Given the description of an element on the screen output the (x, y) to click on. 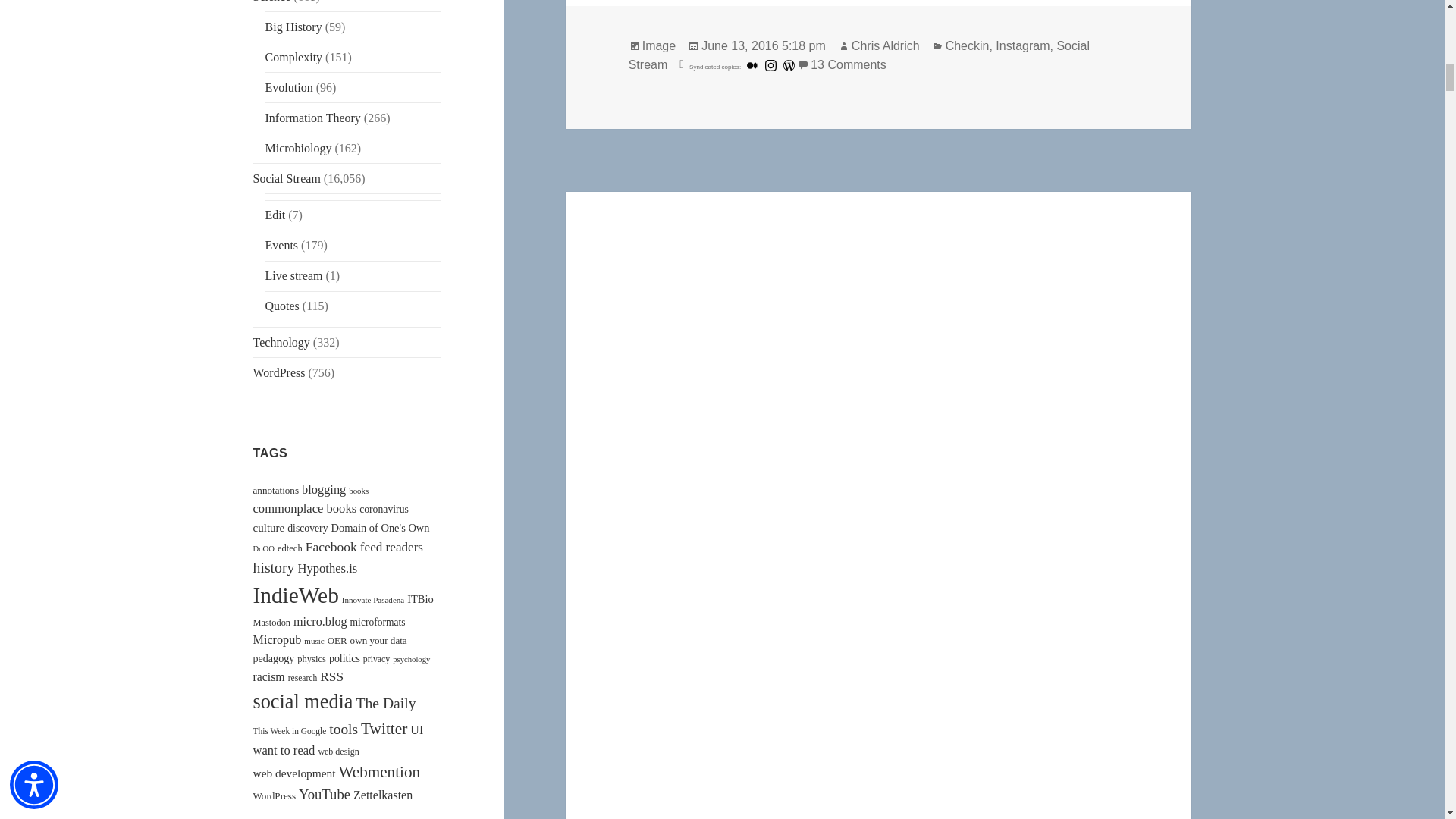
Medium (752, 65)
WordPress (788, 65)
Instagram (770, 65)
